Given the description of an element on the screen output the (x, y) to click on. 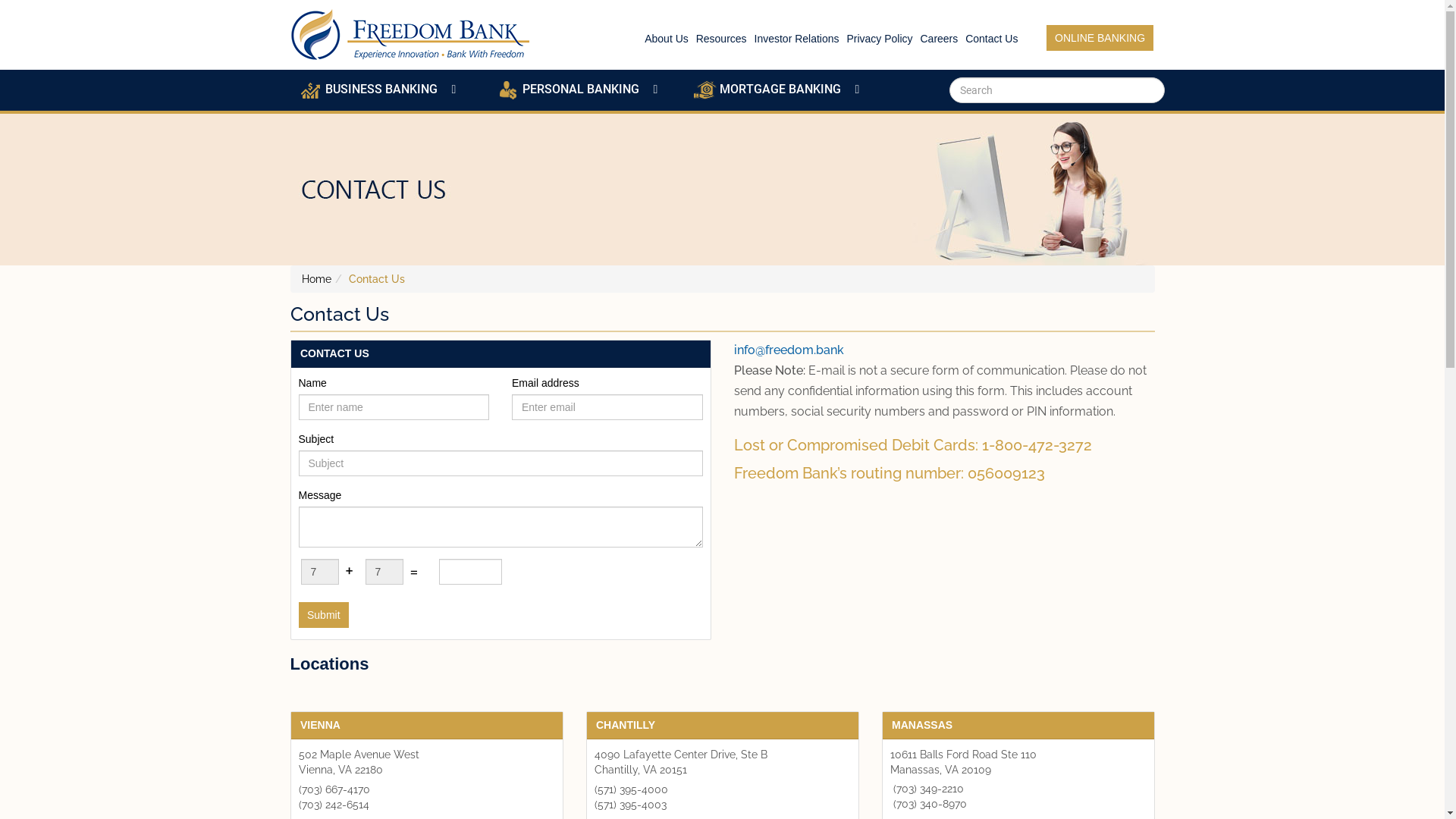
Resources Element type: text (721, 38)
Contact Us Element type: text (991, 38)
 BUSINESS BANKING Element type: text (387, 89)
Freedom Bank-Contact Us Element type: hover (722, 189)
ONLINE BANKING Element type: text (1099, 37)
Mortgage Banking Element type: hover (704, 89)
Personal Banking Element type: hover (506, 89)
Freedom_Bank_Logo1 Element type: hover (410, 34)
About Us Element type: text (666, 38)
info@freedom.bank Element type: text (789, 349)
Privacy Policy Element type: text (879, 38)
Careers Element type: text (938, 38)
Investor Relations Element type: text (795, 38)
Home Element type: text (316, 279)
 PERSONAL BANKING Element type: text (585, 89)
Submit Element type: text (323, 614)
 MORTGAGE BANKING Element type: text (782, 89)
Business Banking Element type: hover (309, 89)
